Given the description of an element on the screen output the (x, y) to click on. 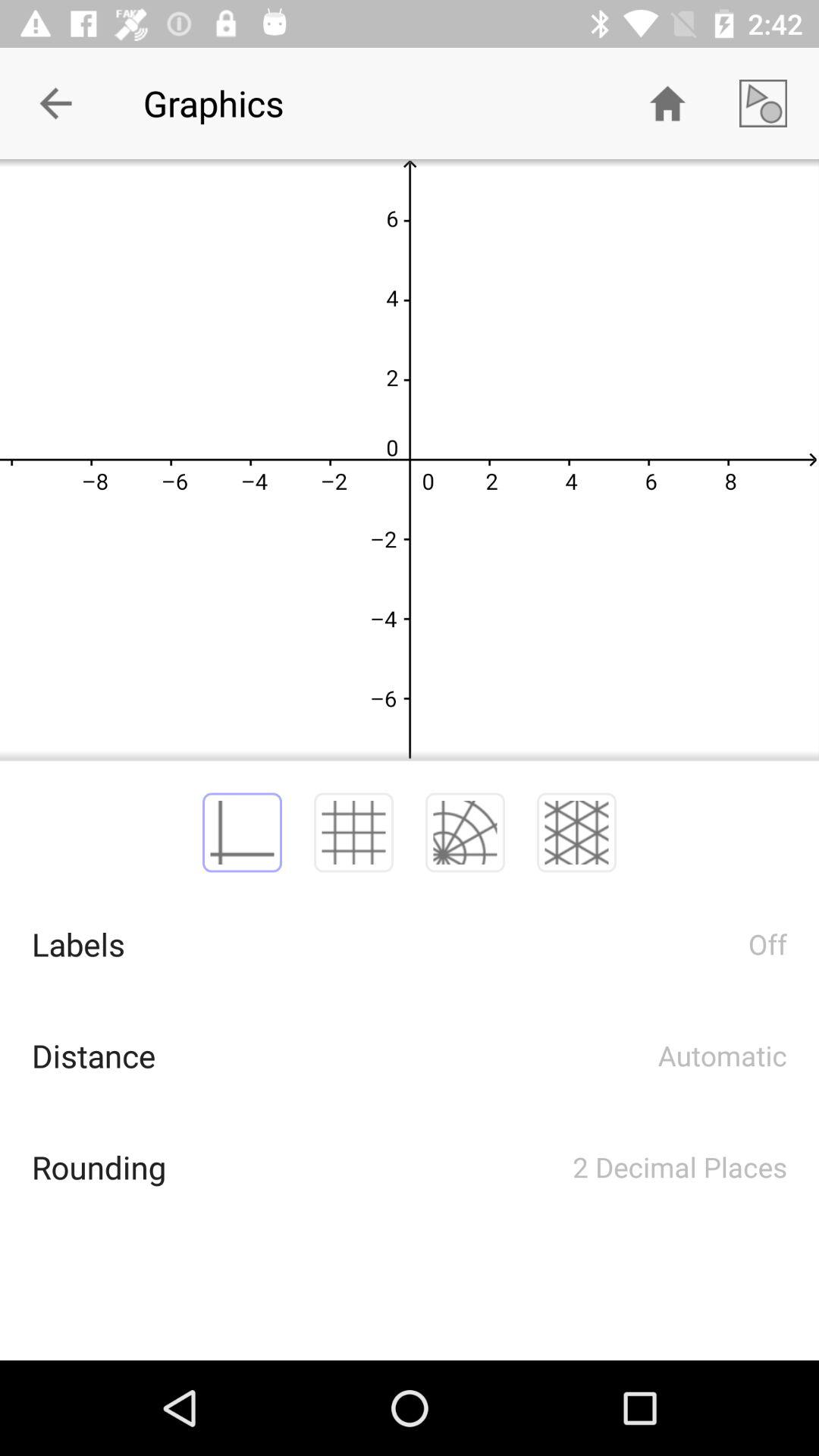
choose icon next to graphics item (55, 103)
